Given the description of an element on the screen output the (x, y) to click on. 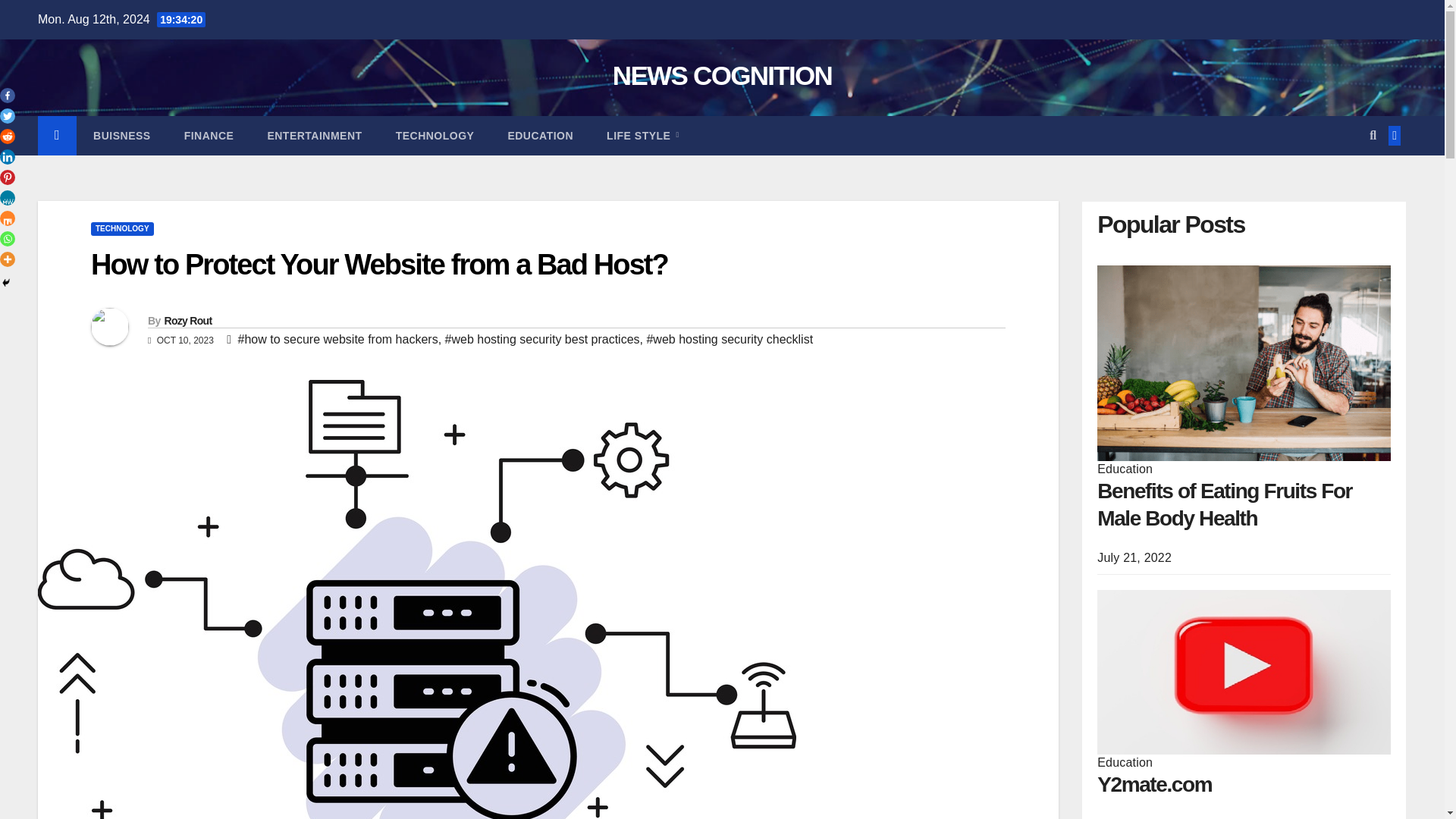
TECHNOLOGY (122, 228)
Permalink to: How to Protect Your Website from a Bad Host? (379, 264)
Rozy Rout (187, 320)
TECHNOLOGY (435, 134)
Mix (7, 218)
BUISNESS (122, 134)
Facebook (7, 95)
Life Style (642, 134)
FINANCE (208, 134)
Buisness (122, 134)
